Given the description of an element on the screen output the (x, y) to click on. 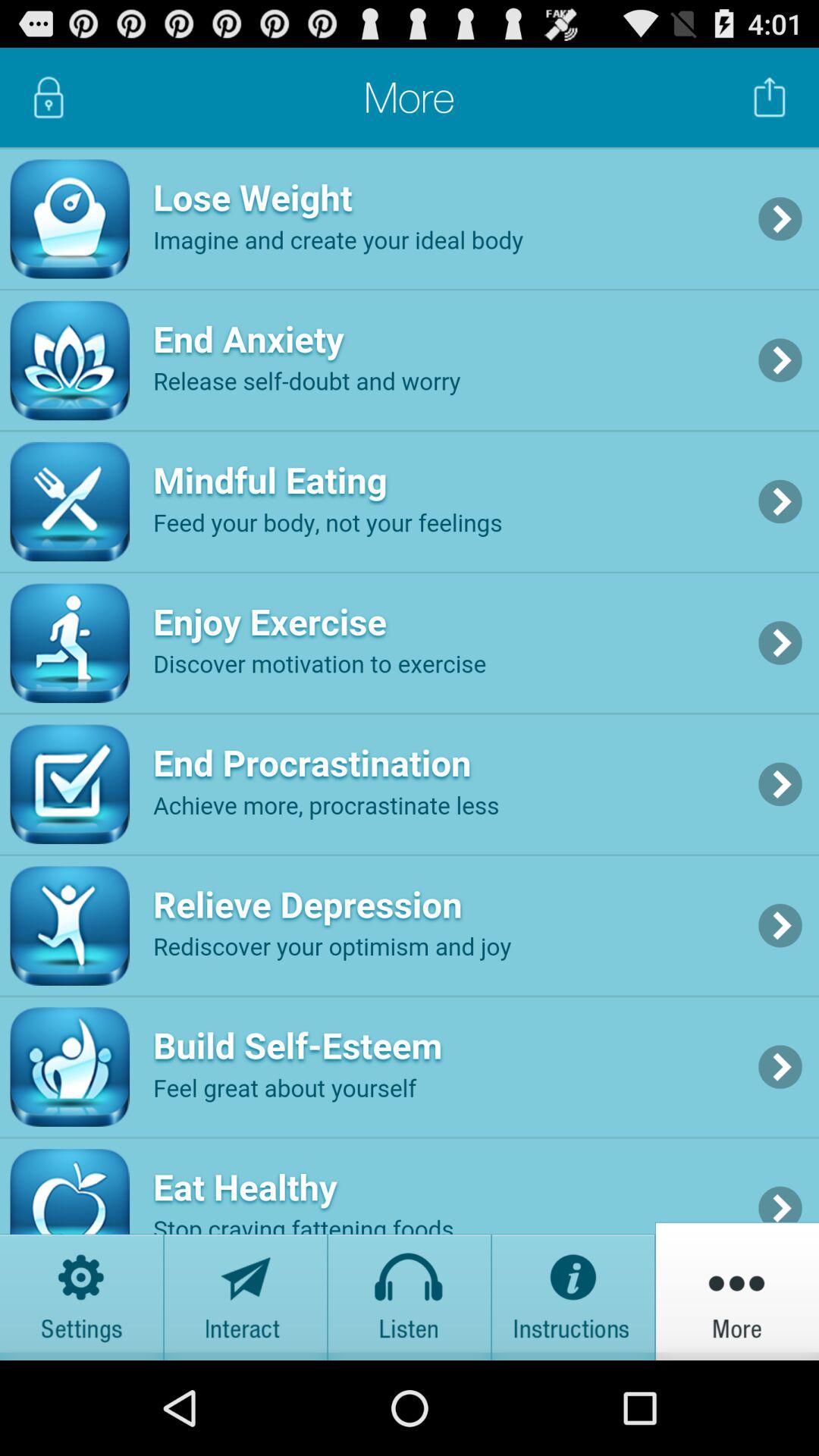
select instructions (573, 1290)
